Given the description of an element on the screen output the (x, y) to click on. 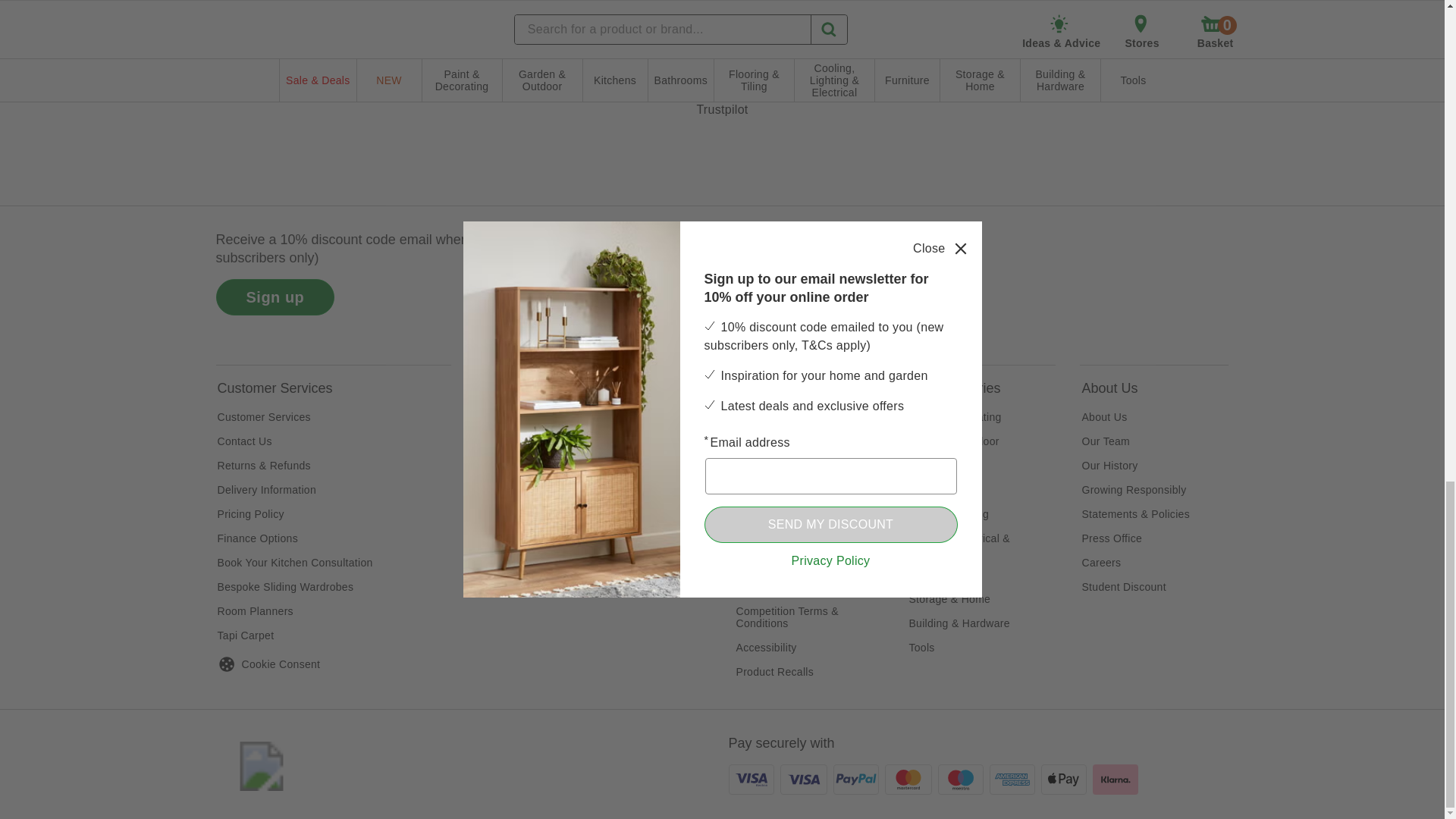
instagram (750, 277)
twitter (828, 277)
pinterest (868, 277)
facebook (789, 277)
youtube (907, 277)
